Given the description of an element on the screen output the (x, y) to click on. 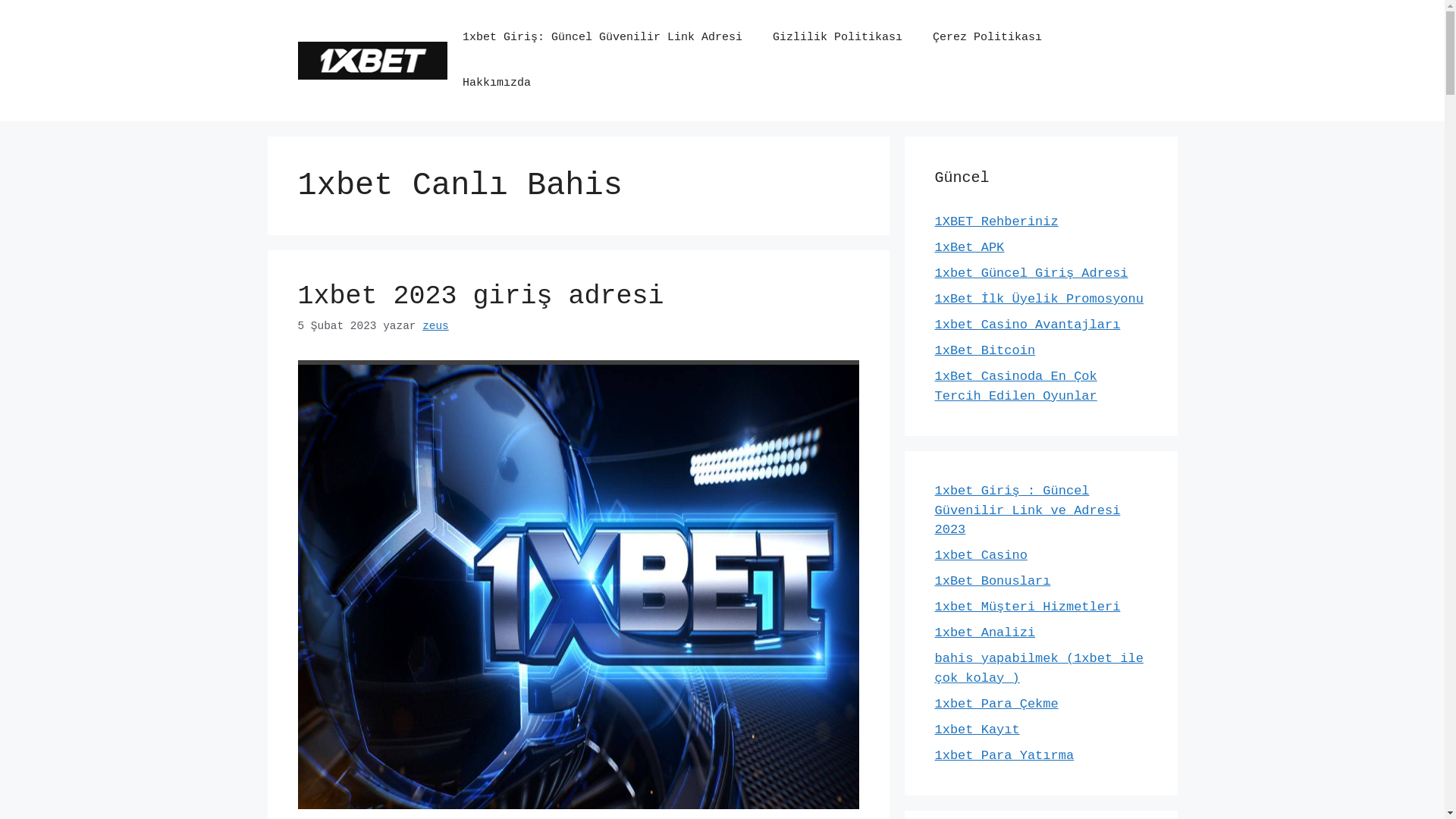
zeus Element type: text (435, 326)
1xbet Analizi Element type: text (984, 632)
1XBET Rehberiniz Element type: text (995, 221)
1xBet Bitcoin Element type: text (984, 350)
1xBet APK Element type: text (969, 247)
1xbet Casino Element type: text (980, 555)
